Given the description of an element on the screen output the (x, y) to click on. 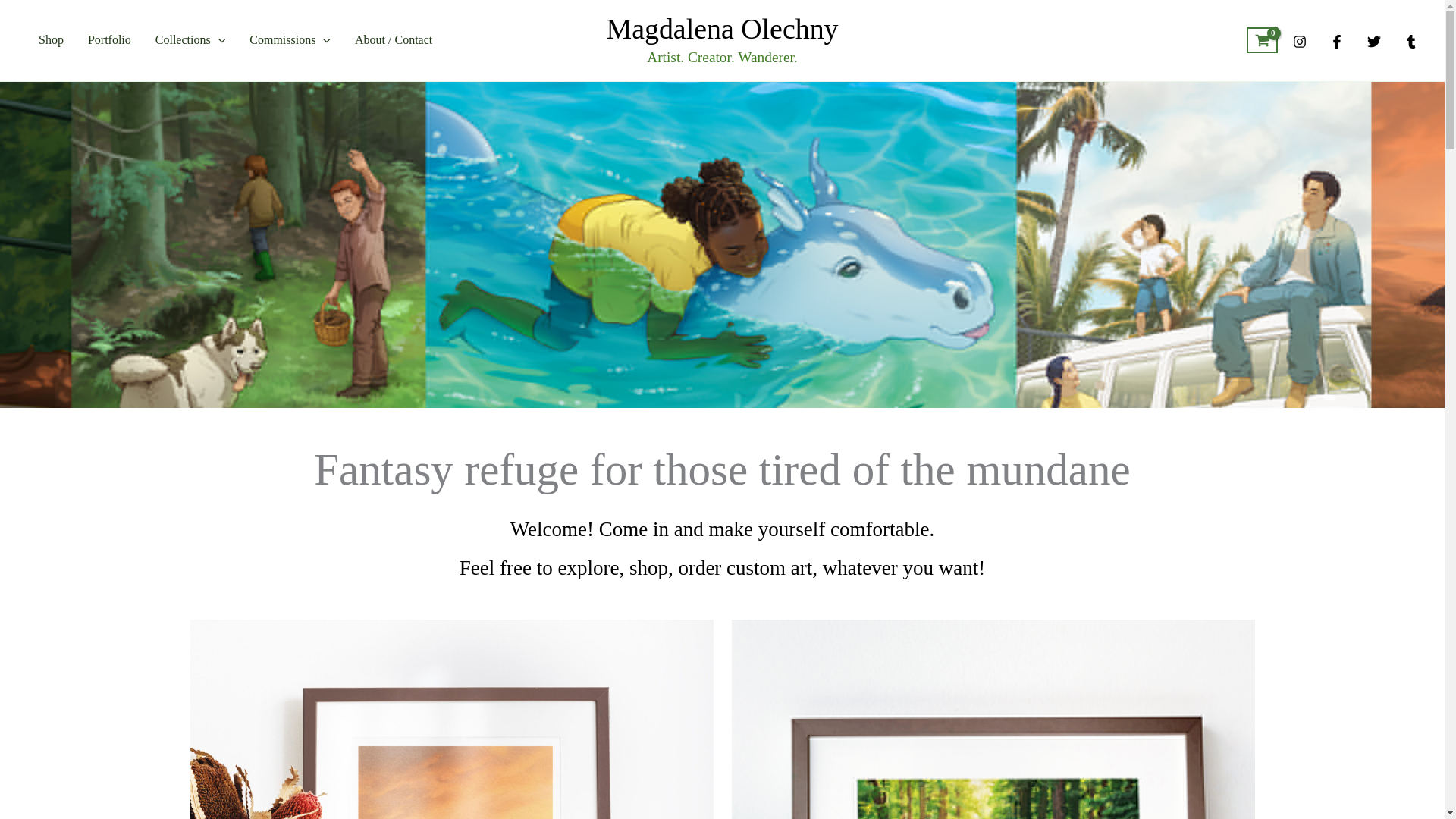
Commissions (289, 39)
Portfolio (108, 39)
Collections (189, 39)
Magdalena Olechny (721, 29)
